Given the description of an element on the screen output the (x, y) to click on. 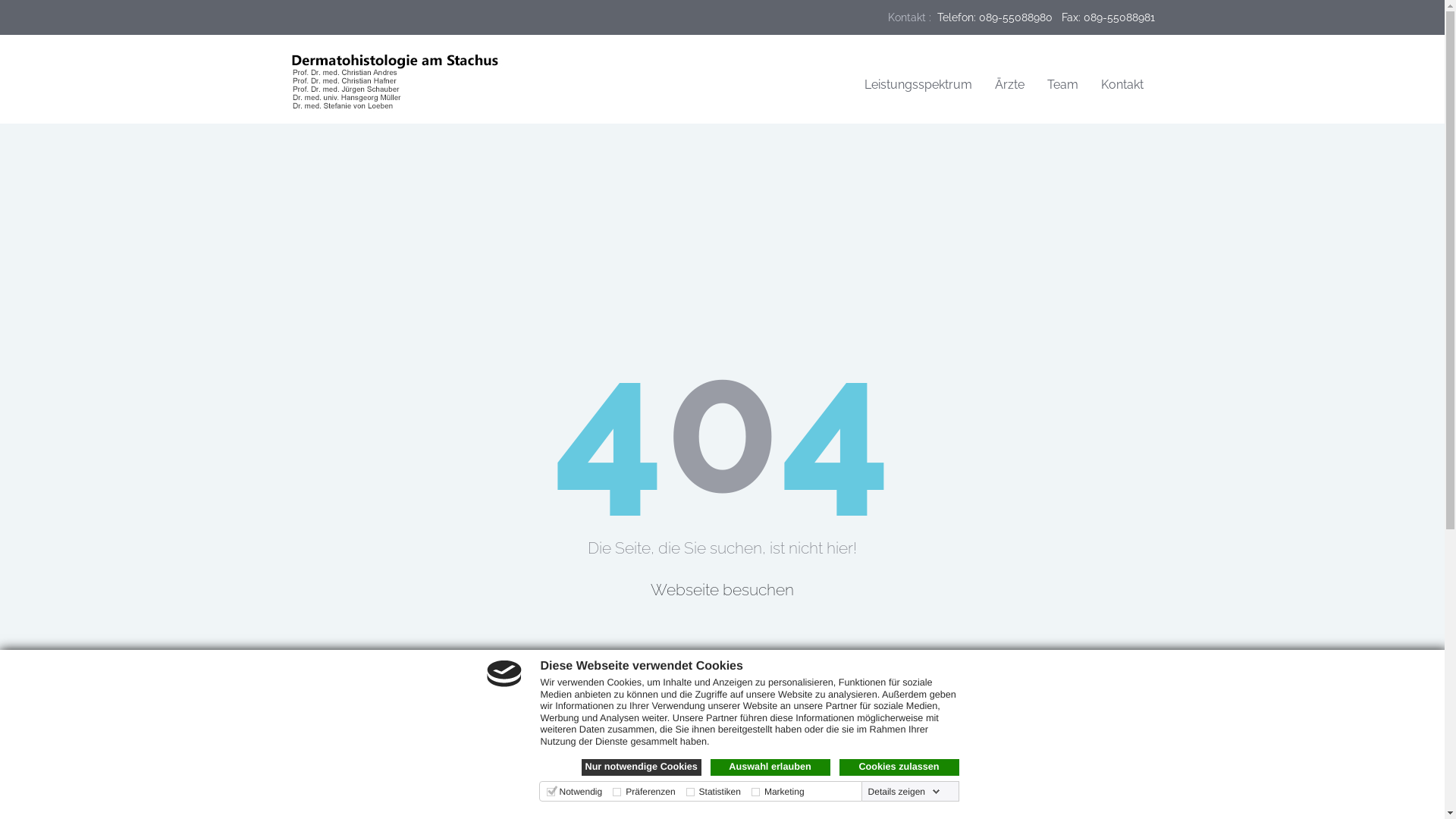
Kontakt Element type: text (1121, 85)
Nur notwendige Cookies Element type: text (640, 767)
Team Element type: text (1062, 85)
Auswahl erlauben Element type: text (769, 767)
Cookies zulassen Element type: text (898, 767)
Leistungsspektrum Element type: text (917, 85)
Webseite besuchen Element type: text (721, 589)
Details zeigen Element type: text (904, 791)
